Given the description of an element on the screen output the (x, y) to click on. 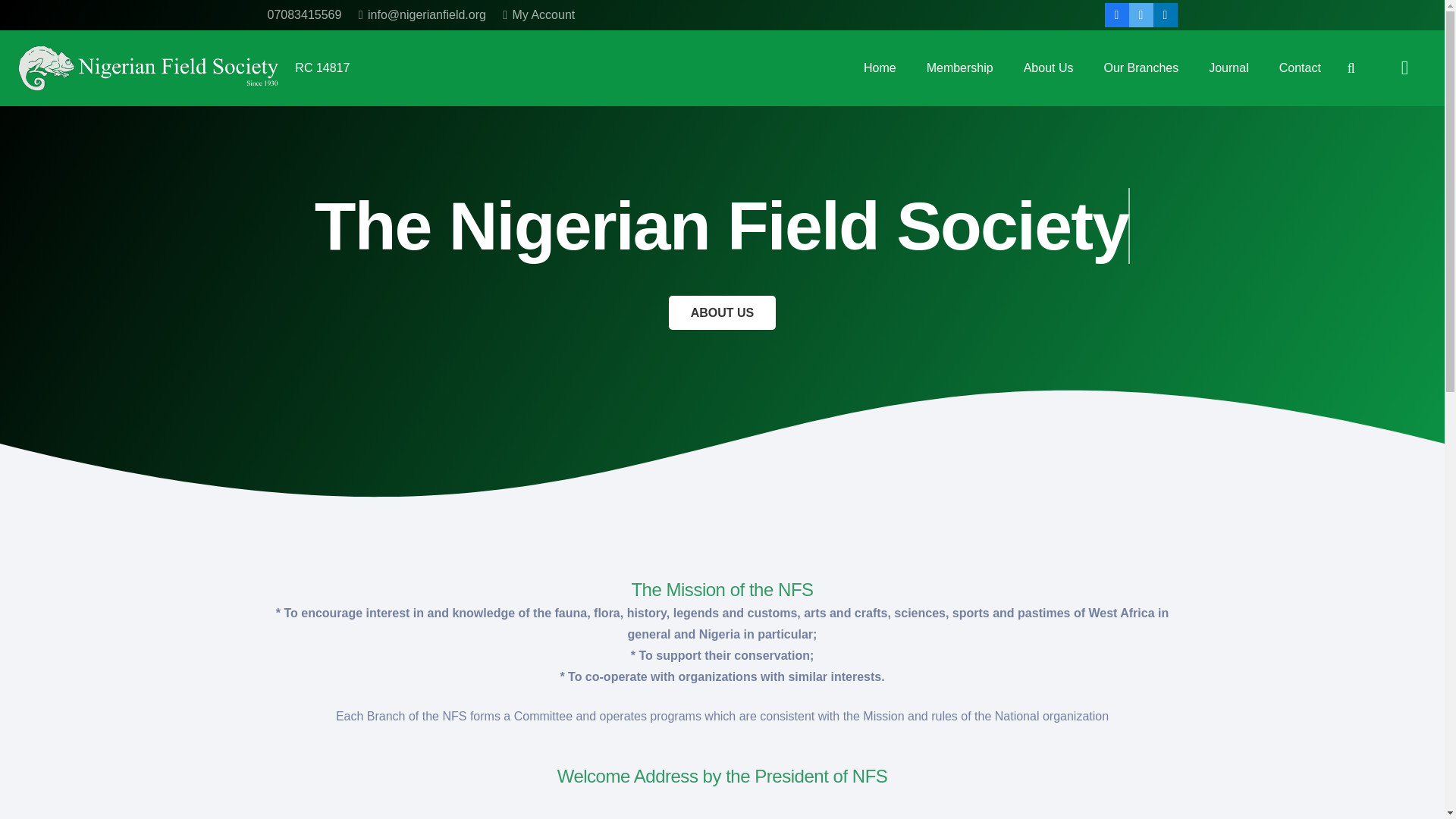
Journal (1228, 68)
LinkedIn (1165, 15)
My Account (538, 14)
Our Branches (1141, 68)
Facebook (1117, 15)
YouTube (650, 639)
Twitter (1141, 15)
YouTube (969, 639)
Facebook (606, 639)
Facebook (923, 639)
07083415569 (303, 14)
Contact (1299, 68)
About Us (1049, 68)
Membership (960, 68)
ABOUT US (722, 312)
